Given the description of an element on the screen output the (x, y) to click on. 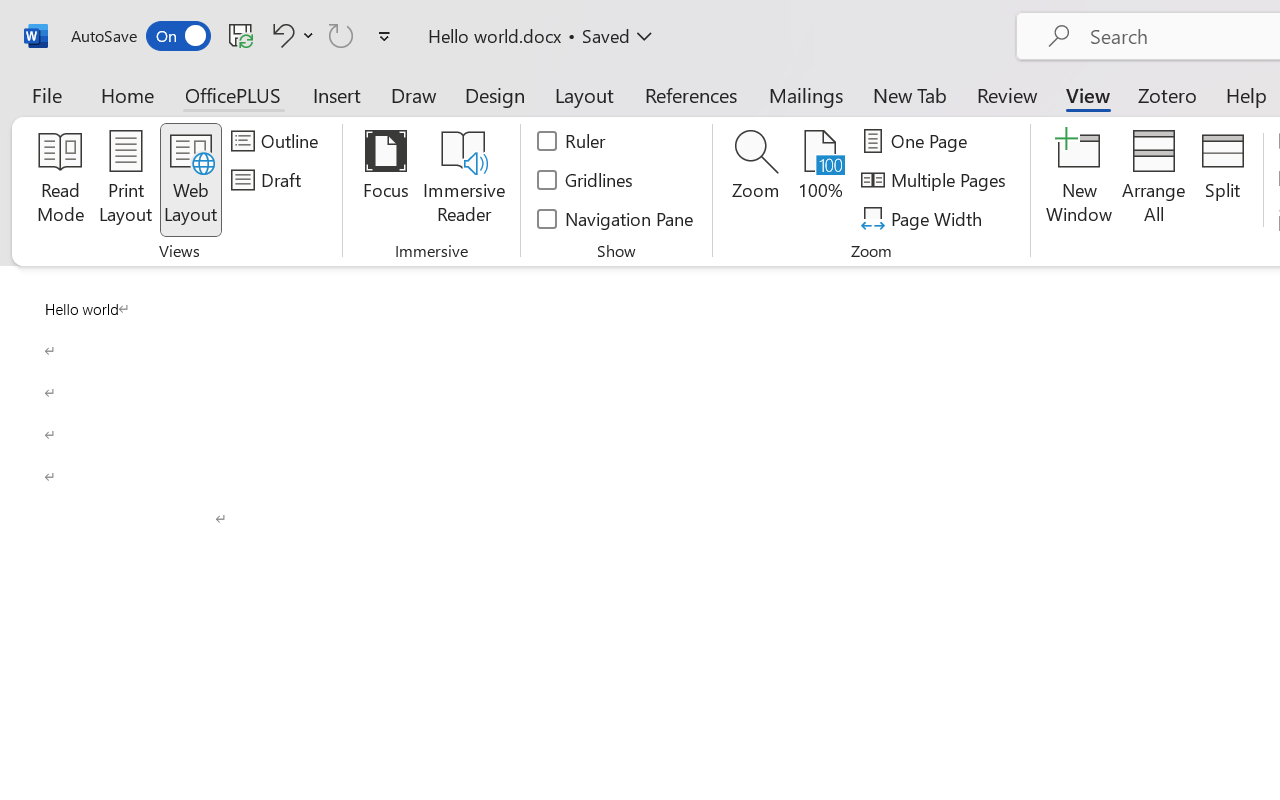
Split (1222, 179)
Multiple Pages (936, 179)
Design (495, 94)
Navigation Pane (616, 218)
Customize Quick Access Toolbar (384, 35)
Zotero (1166, 94)
100% (820, 179)
Undo Paragraph Formatting (290, 35)
Outline (278, 141)
Read Mode (60, 179)
New Window (1079, 179)
Web Layout (190, 179)
Page Width (924, 218)
Mailings (806, 94)
